Given the description of an element on the screen output the (x, y) to click on. 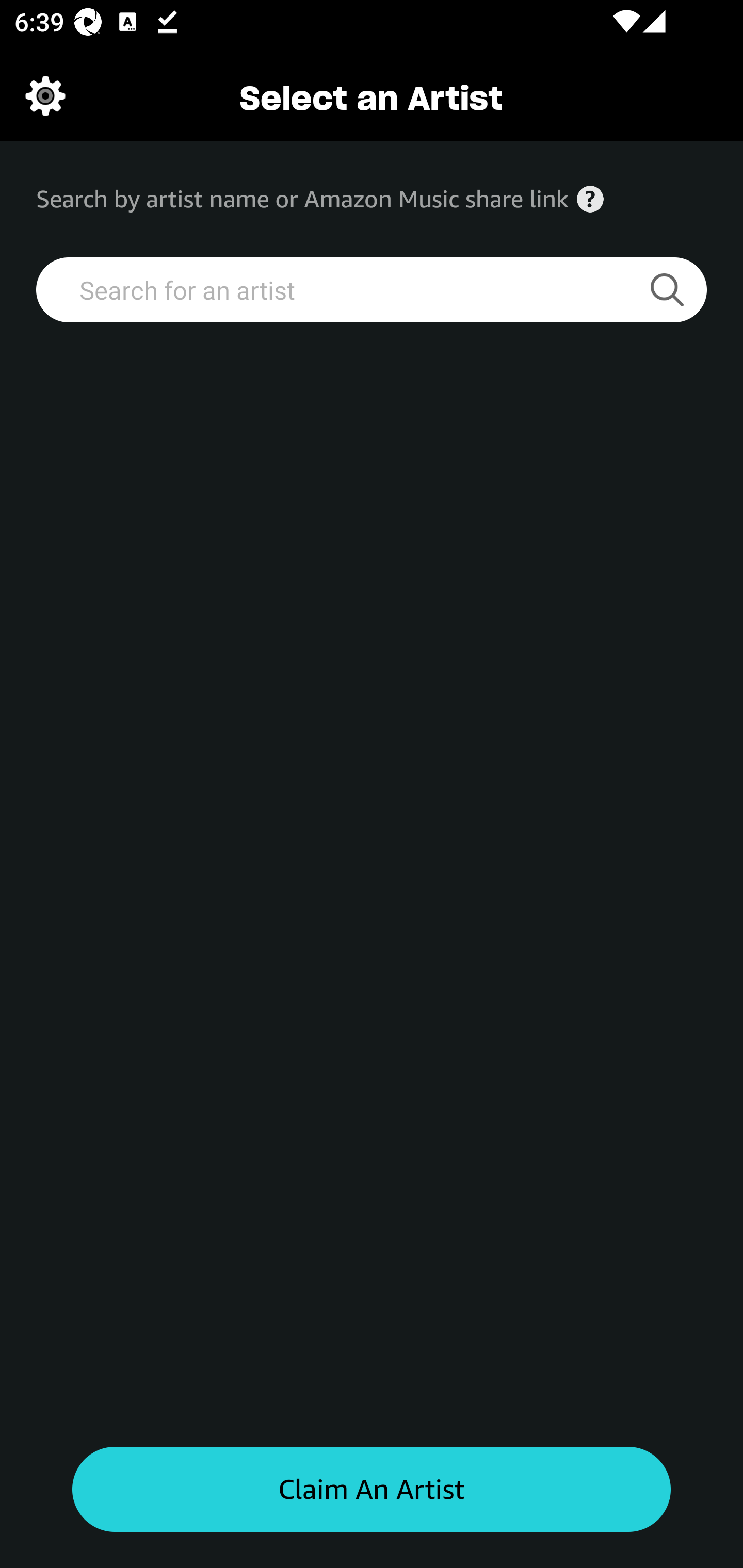
Help  icon (589, 199)
Claim an artist button Claim An Artist (371, 1489)
